Given the description of an element on the screen output the (x, y) to click on. 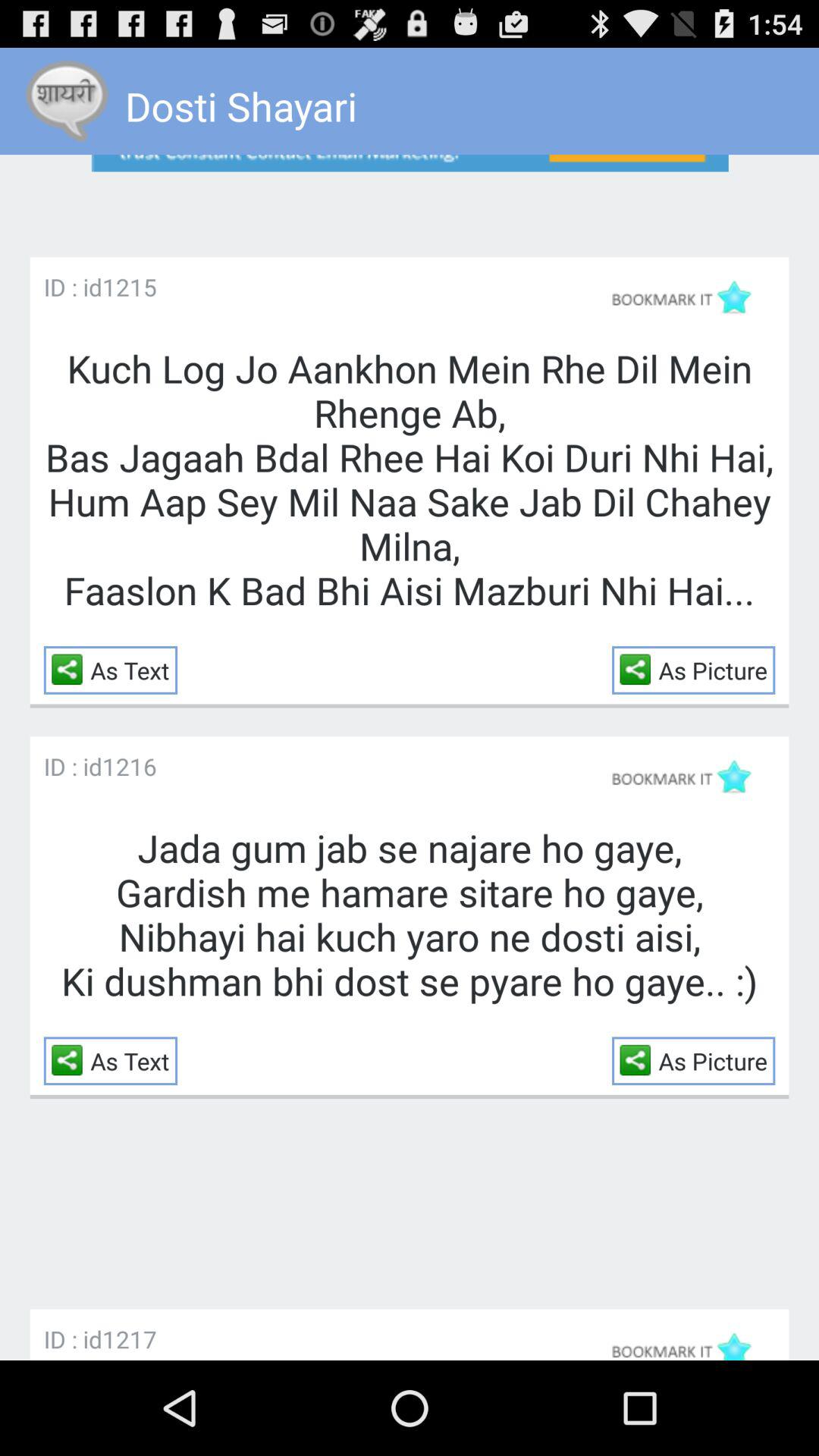
select item next to id : id (129, 286)
